Given the description of an element on the screen output the (x, y) to click on. 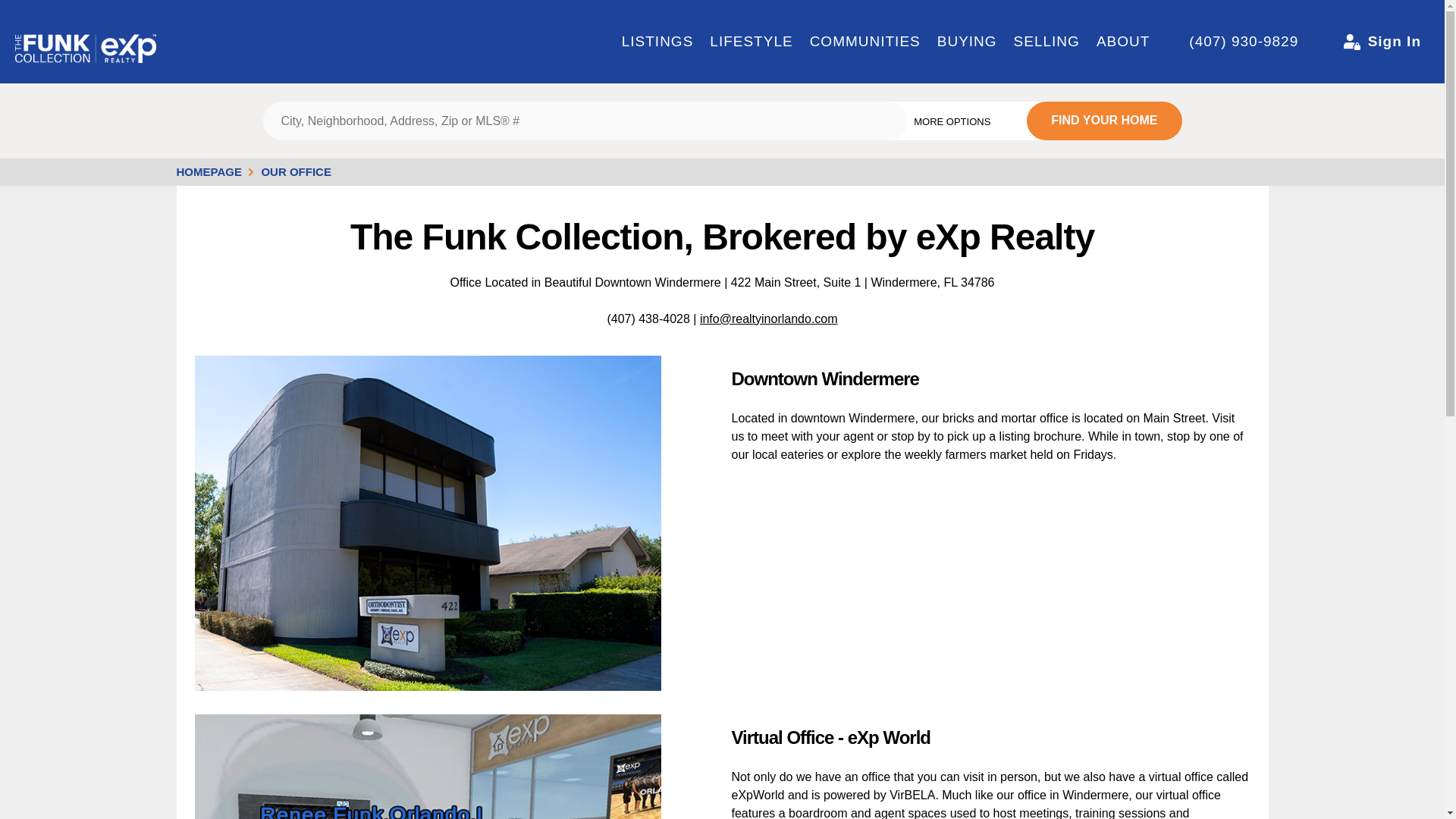
LIFESTYLE (750, 41)
SELLING (1046, 41)
LISTINGS (656, 41)
ABOUT (1122, 41)
Site Logo (84, 39)
COMMUNITIES (865, 41)
BUYING (967, 41)
